Given the description of an element on the screen output the (x, y) to click on. 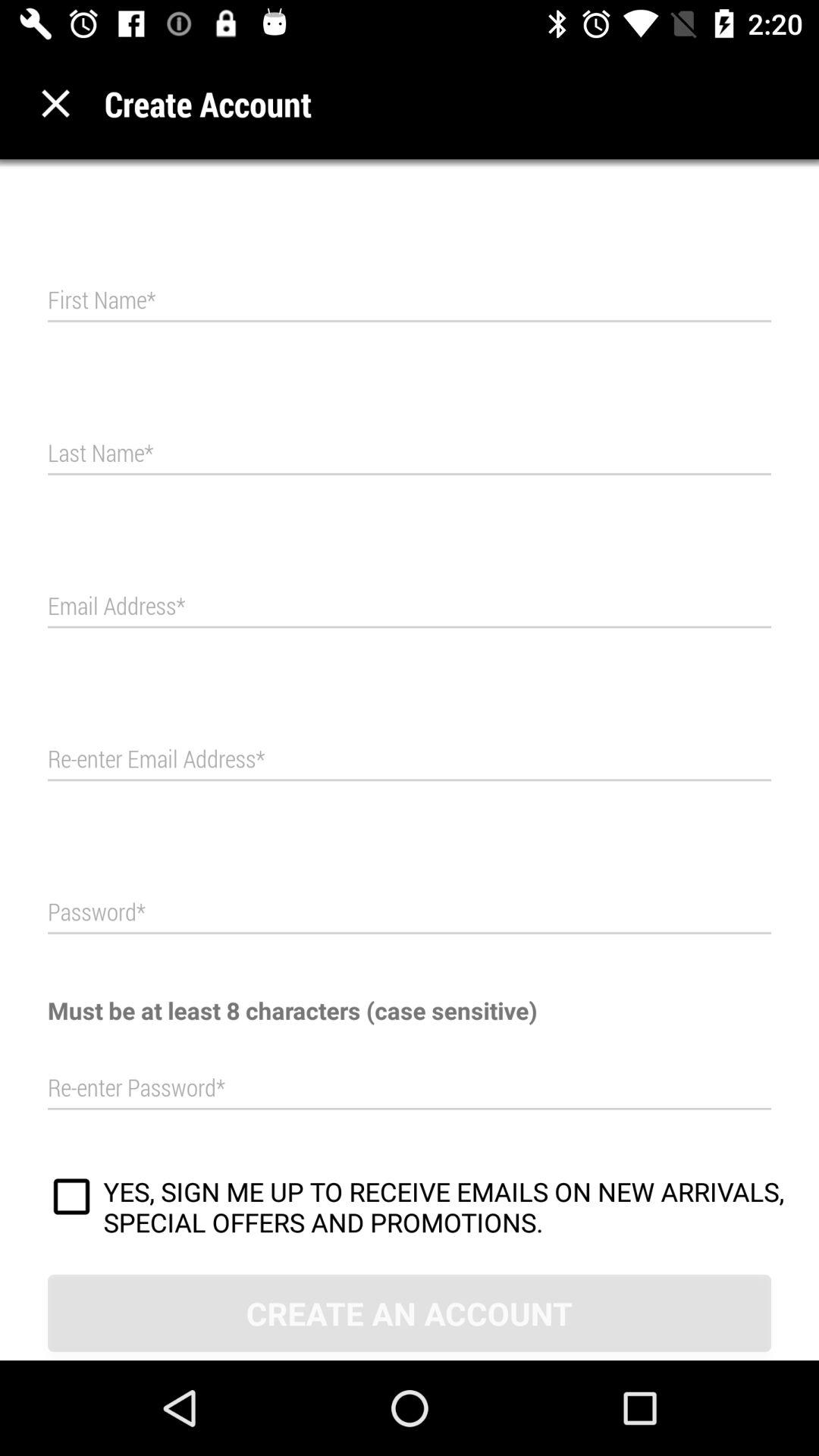
password verification (409, 1088)
